Given the description of an element on the screen output the (x, y) to click on. 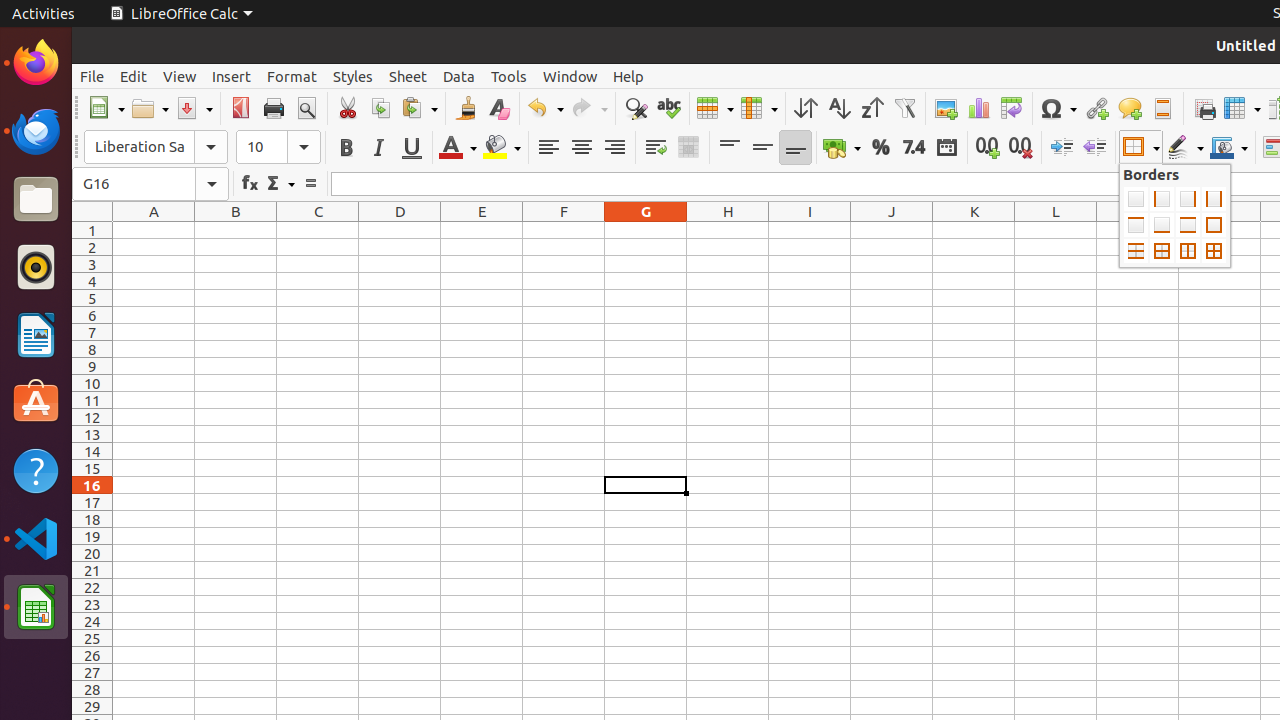
Freeze Rows and Columns Element type: push-button (1242, 108)
J1 Element type: table-cell (892, 230)
Format Element type: menu (292, 76)
D1 Element type: table-cell (400, 230)
